Given the description of an element on the screen output the (x, y) to click on. 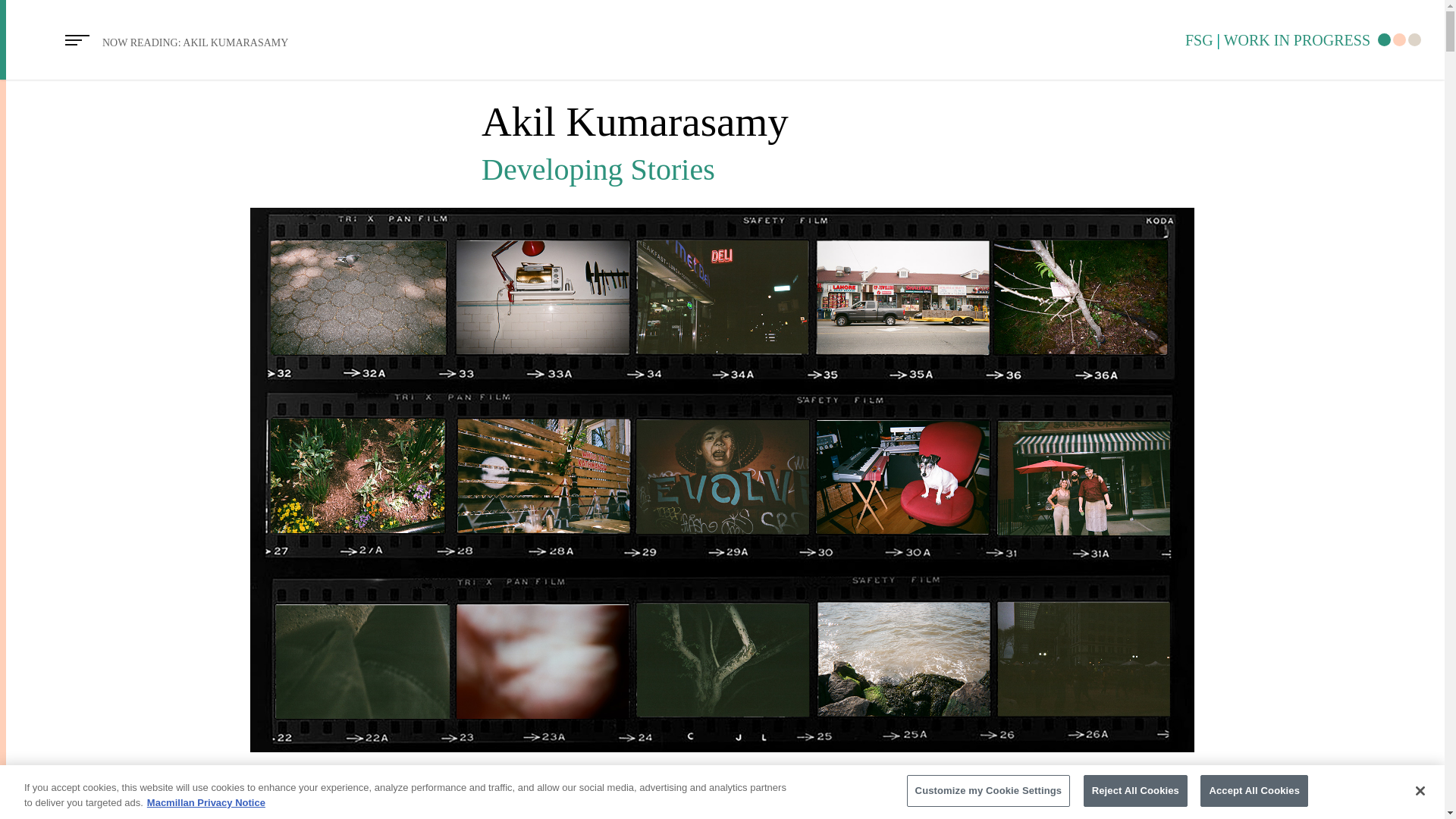
Accept All Cookies (1253, 790)
Customize my Cookie Settings (988, 790)
Macmillan Privacy Notice (205, 802)
Reject All Cookies (1135, 790)
